Given the description of an element on the screen output the (x, y) to click on. 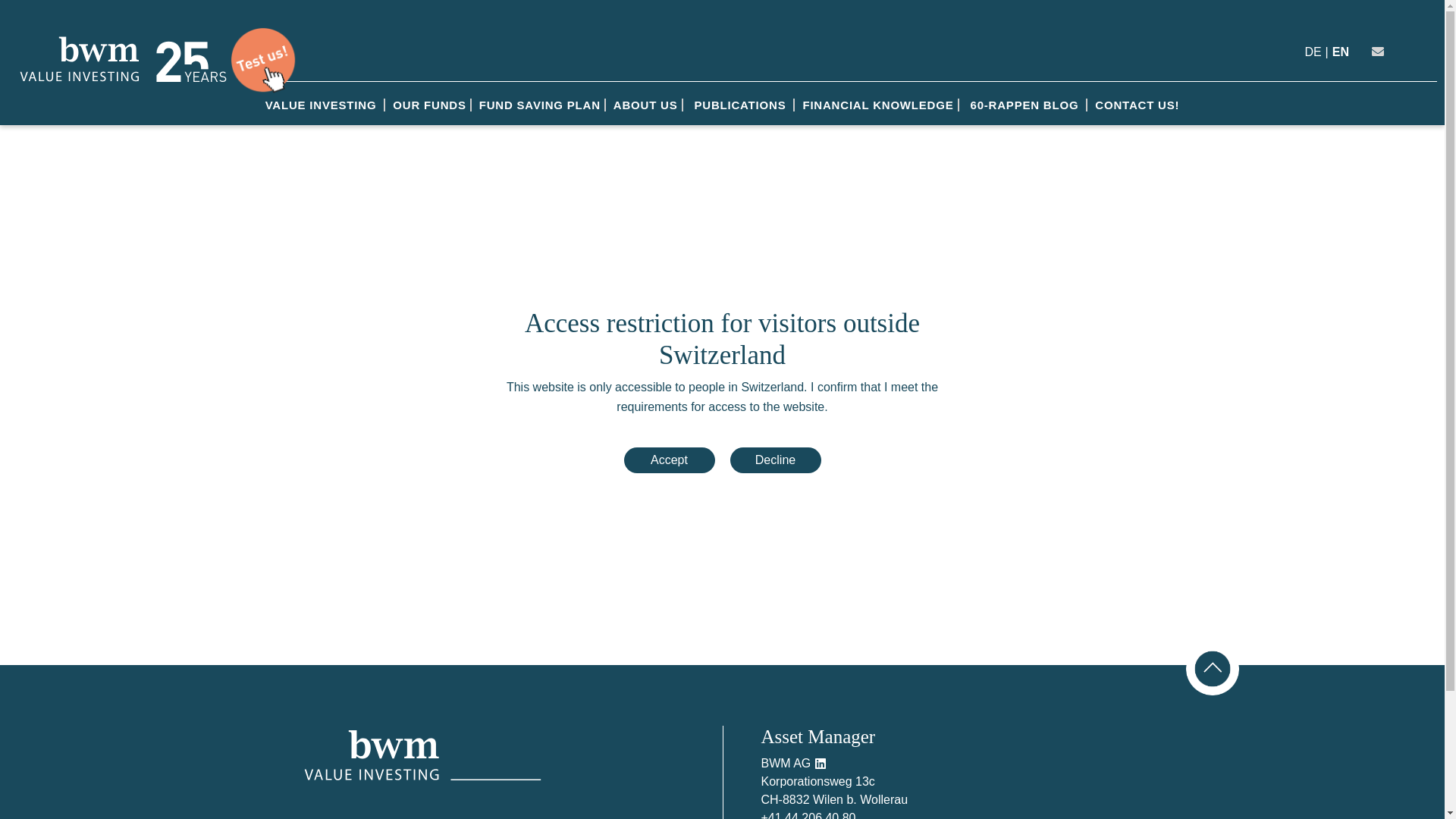
FUND SAVING PLAN Element type: text (539, 104)
BWM AG Element type: text (787, 762)
EN Element type: text (1340, 51)
PUBLICATIONS Element type: text (739, 104)
DE Element type: text (1312, 51)
Decline Element type: text (774, 460)
Accept Element type: text (668, 460)
BWM Element type: hover (80, 58)
ABOUT US Element type: text (645, 104)
OUR FUNDS Element type: text (428, 104)
CONTACT US! Element type: text (1137, 104)
60-RAPPEN BLOG Element type: text (1024, 104)
VALUE INVESTING Element type: text (322, 104)
Korporationsweg 13c
CH-8832 Wilen b. Wollerau Element type: text (834, 790)
FINANCIAL KNOWLEDGE Element type: text (877, 104)
BWM Element type: hover (185, 58)
